Given the description of an element on the screen output the (x, y) to click on. 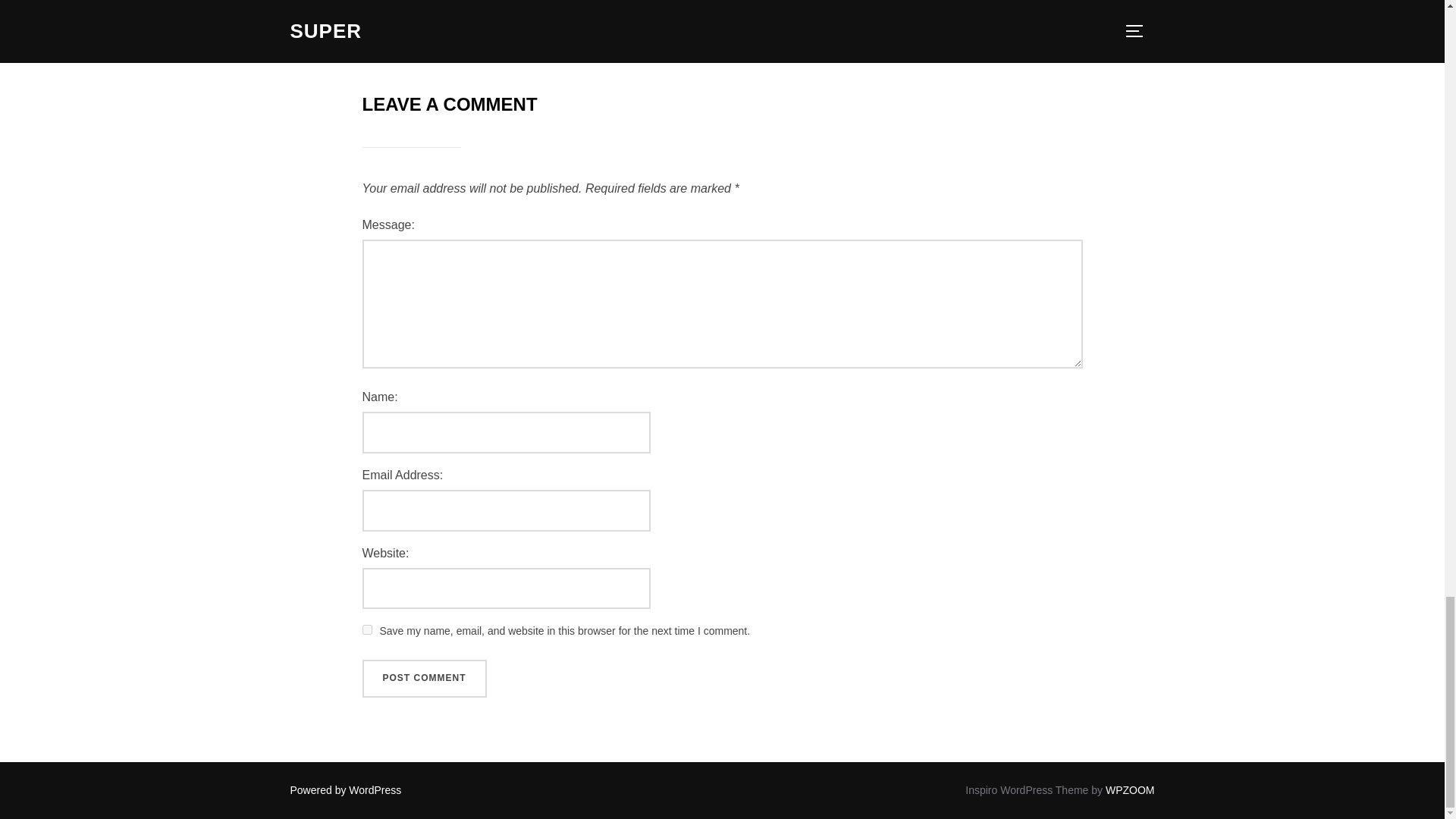
yes (367, 629)
Post Comment (424, 678)
Post Comment (424, 678)
WPZOOM (1129, 789)
Powered by WordPress (345, 789)
